Given the description of an element on the screen output the (x, y) to click on. 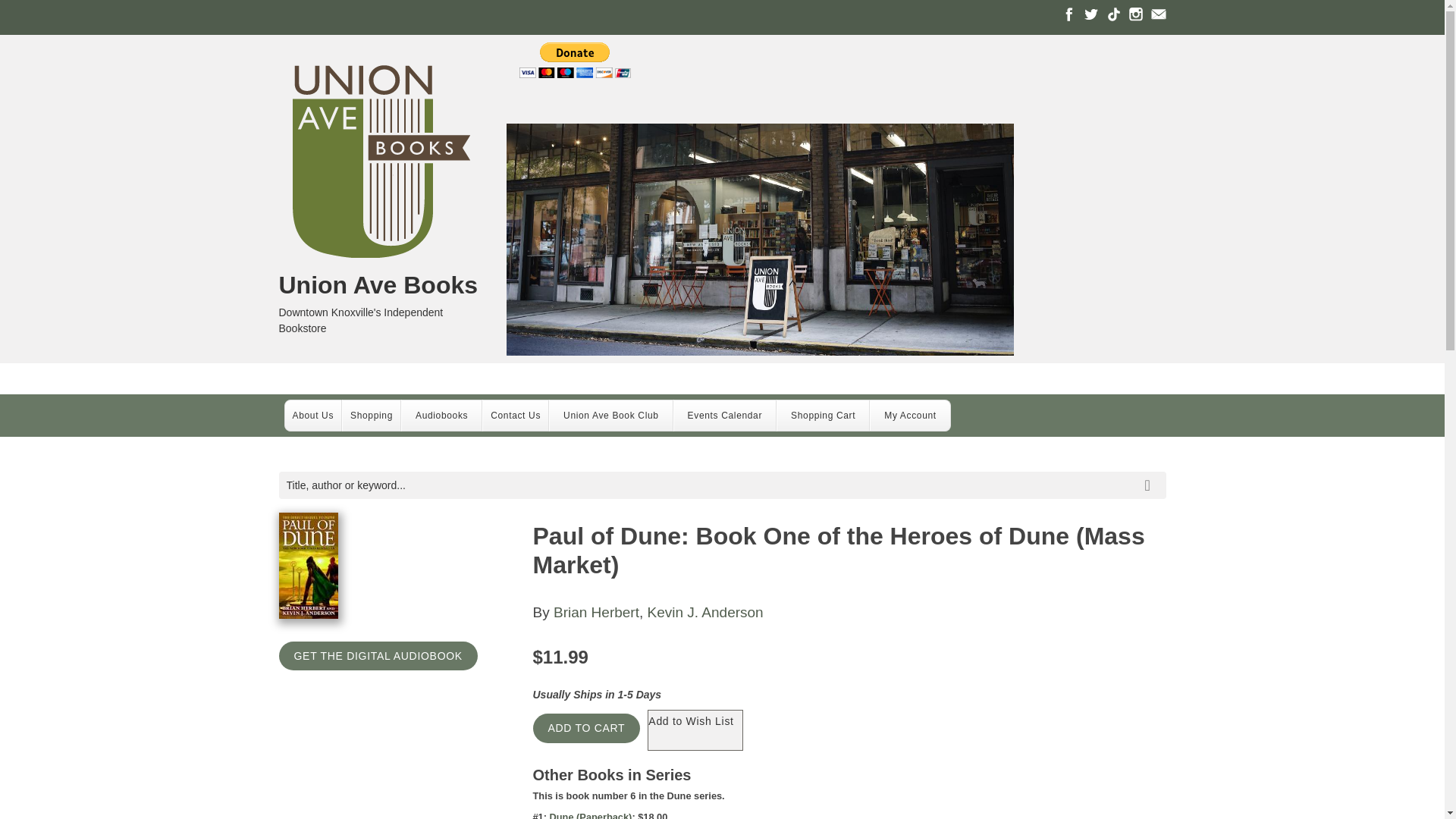
About Us (313, 415)
Home (381, 164)
Audiobooks (441, 415)
search (1150, 473)
Get the Digital Audiobook (378, 655)
My Account (910, 415)
Brian Herbert (596, 611)
Contact Us (515, 415)
Shopping Cart (823, 415)
search (1150, 473)
Title, author or keyword... (722, 485)
Shopping (371, 415)
Get the Digital Audiobook (378, 655)
Union Ave Books (381, 284)
